Given the description of an element on the screen output the (x, y) to click on. 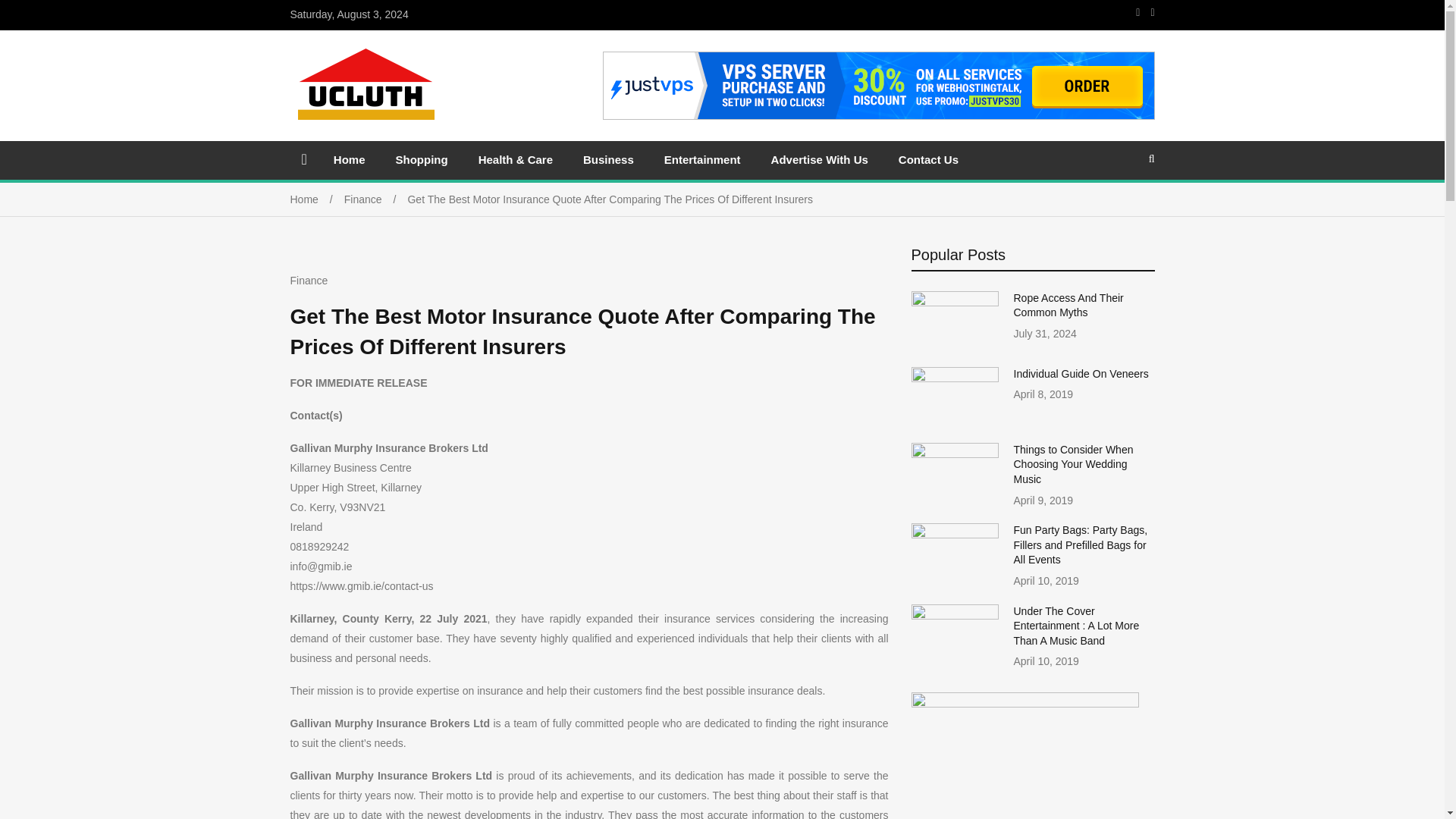
Home (349, 159)
Business (608, 159)
Rope Access And Their Common Myths (1067, 305)
Entertainment (702, 159)
Advertise With Us (819, 159)
Individual Guide On Veneers (1080, 373)
Things to Consider When Choosing Your Wedding Music (1072, 464)
Home (316, 199)
Contact Us (928, 159)
Finance (375, 199)
Shopping (421, 159)
Finance (308, 280)
